Given the description of an element on the screen output the (x, y) to click on. 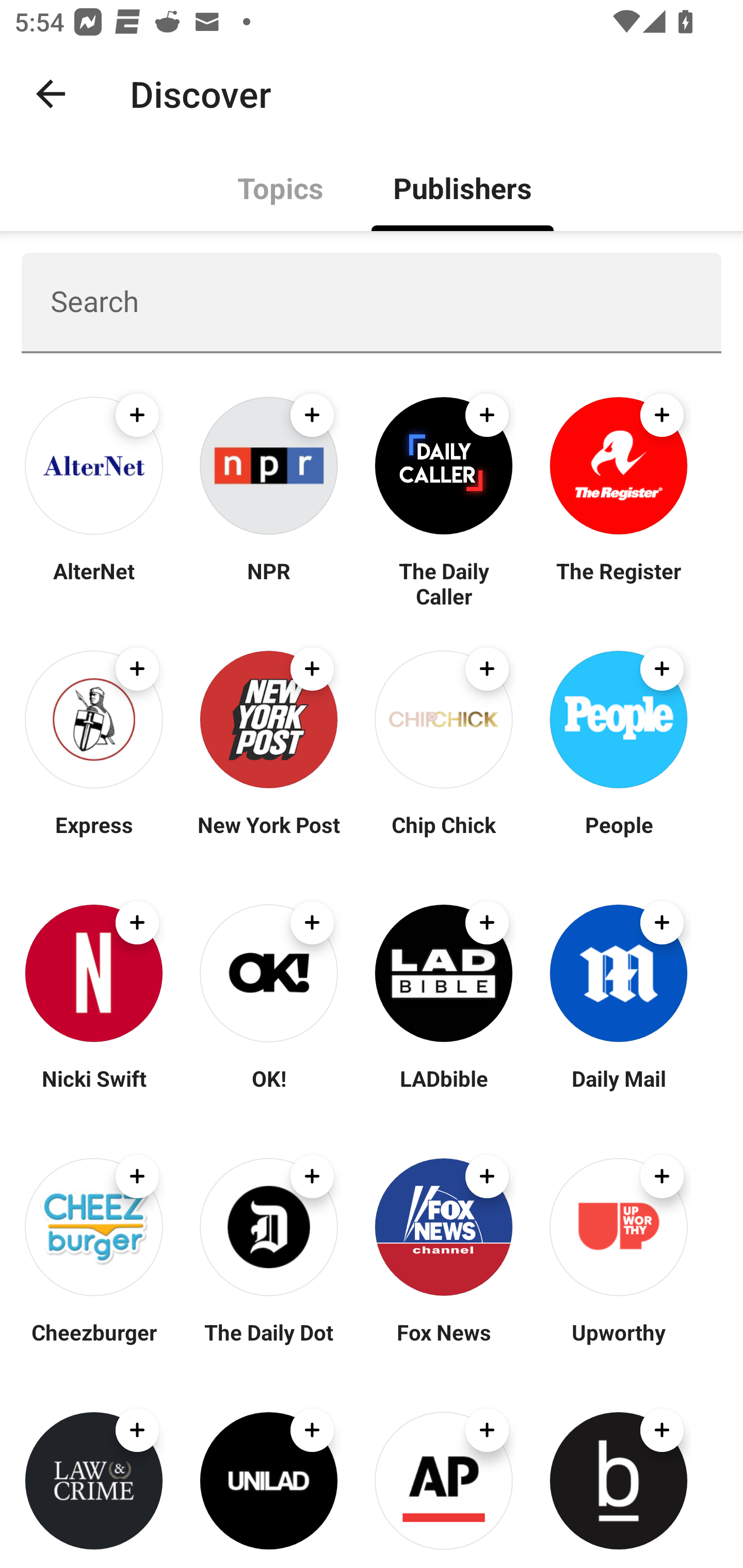
Topics (280, 187)
Search (371, 302)
AlterNet (93, 582)
NPR (268, 582)
The Daily Caller (443, 582)
The Register (618, 582)
Express (93, 836)
New York Post (268, 836)
Chip Chick (443, 836)
People (618, 836)
Nicki Swift (93, 1090)
OK! (268, 1090)
LADbible (443, 1090)
Daily Mail (618, 1090)
Cheezburger (93, 1344)
The Daily Dot (268, 1344)
Fox News (443, 1344)
